Given the description of an element on the screen output the (x, y) to click on. 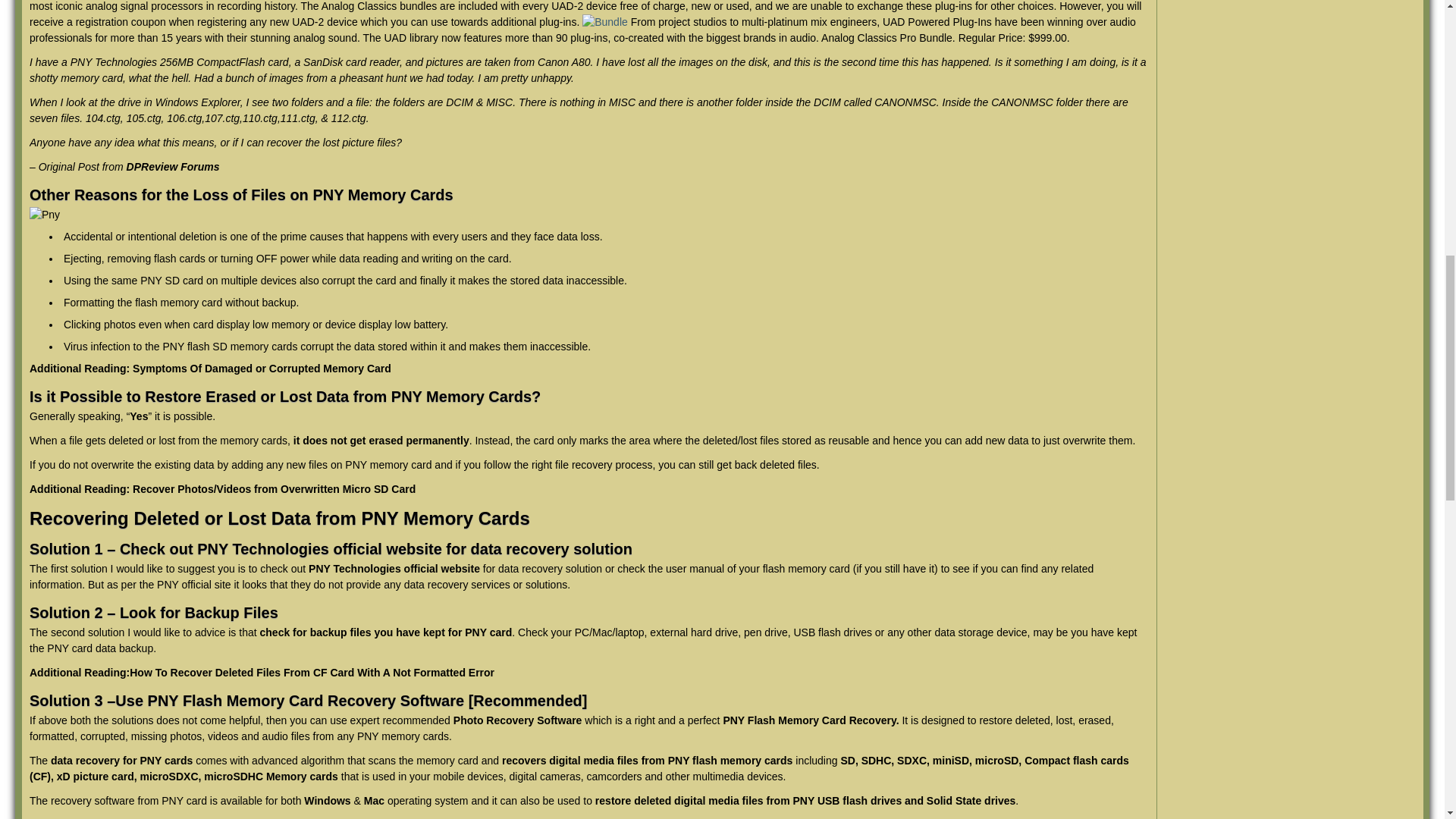
Pny (44, 214)
